Given the description of an element on the screen output the (x, y) to click on. 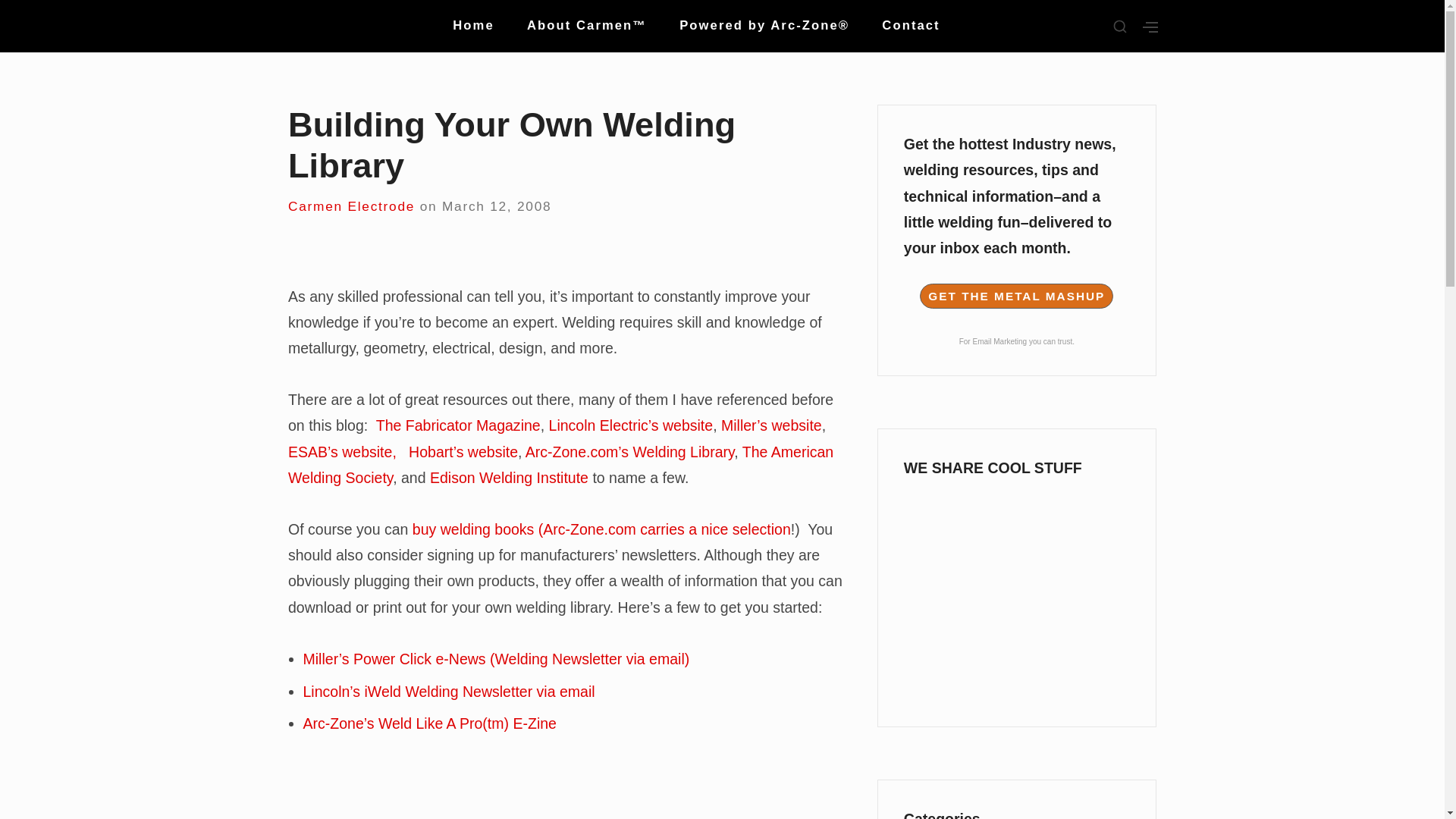
The American Welding Society (560, 464)
The Fabricator Magazine (457, 425)
Contact (910, 26)
SHOW SECONDARY SIDEBAR (1120, 26)
Home (473, 26)
Follow Us on Facebook (1016, 522)
Carmen Electrode (351, 206)
Follow Us on Instagram (1016, 682)
Follow Us on YouTube (1016, 632)
Edison Welding Institute (508, 477)
SHOW SECONDARY SIDEBAR (1150, 26)
Follow Us on Twitter (1016, 582)
